Given the description of an element on the screen output the (x, y) to click on. 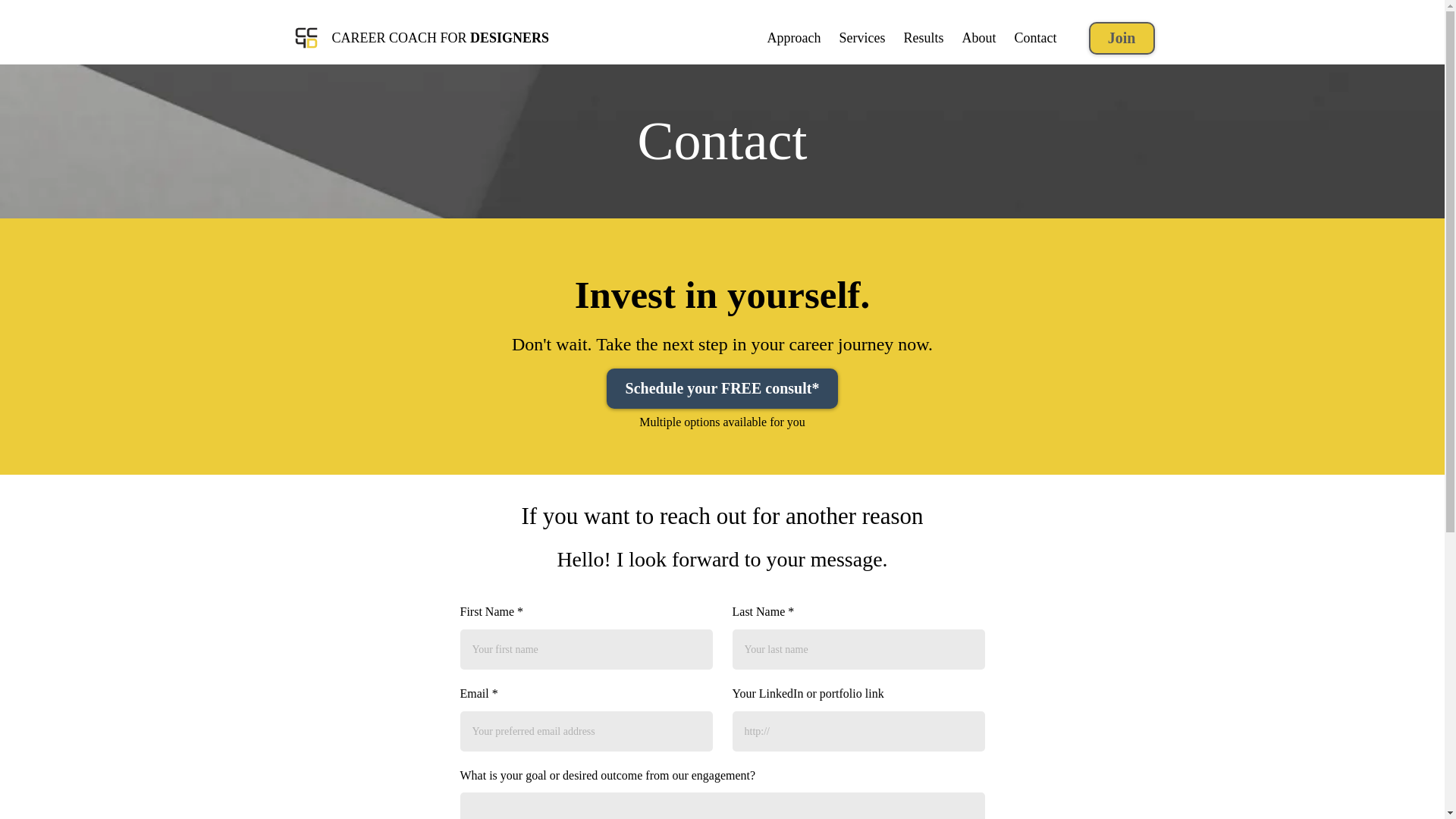
Results (922, 38)
About (978, 38)
Approach (793, 38)
Join (1121, 38)
Services (861, 38)
Contact (1035, 38)
